Given the description of an element on the screen output the (x, y) to click on. 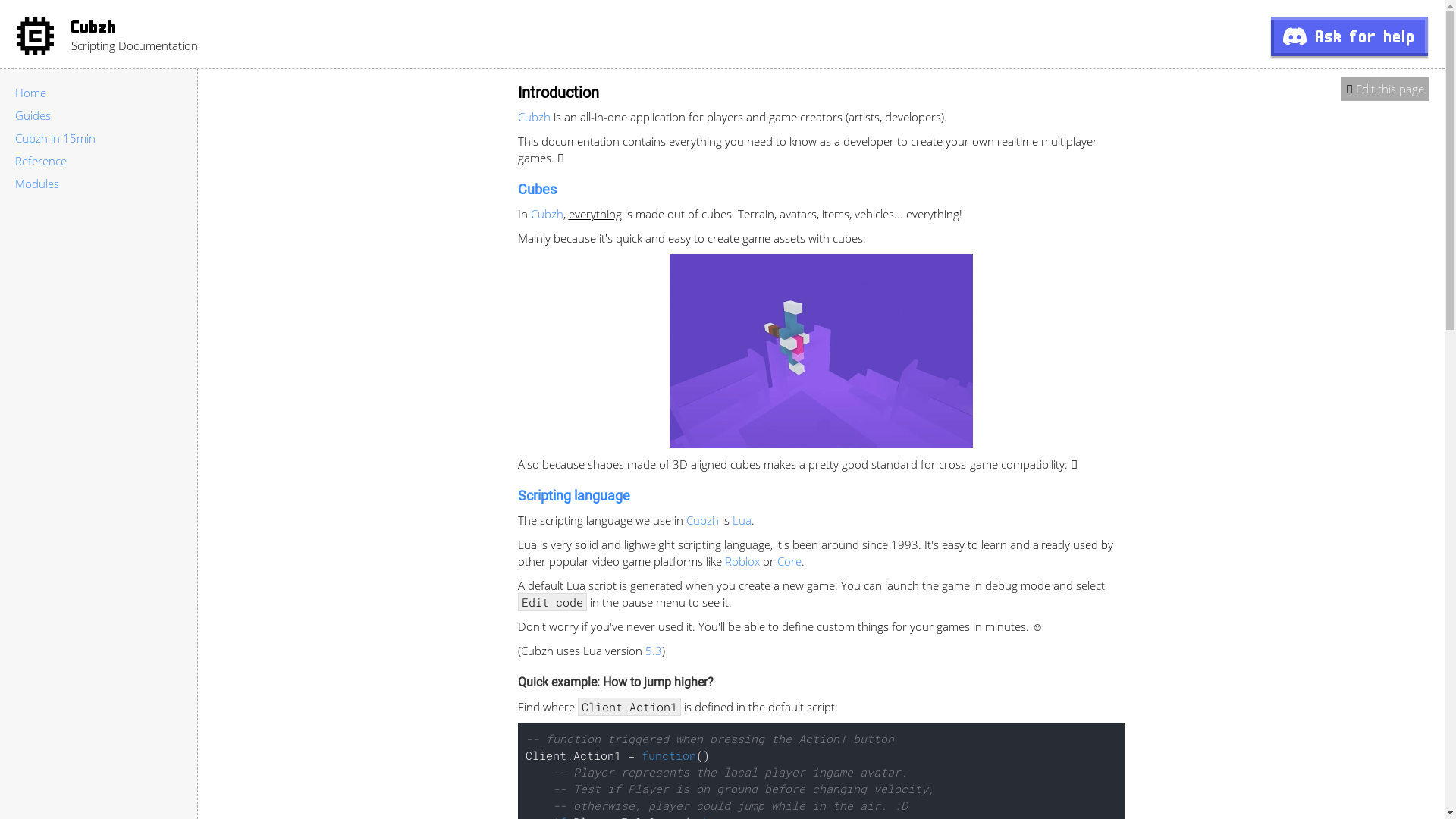
5.3 Element type: text (652, 650)
Reference Element type: text (40, 160)
Cubzh Element type: text (701, 519)
Ask for help Element type: text (1348, 36)
Cubzh in 15min Element type: text (55, 137)
Scripting language Element type: text (573, 495)
Lua Element type: text (741, 519)
Modules Element type: text (37, 183)
Roblox Element type: text (741, 560)
Cubzh Element type: text (546, 213)
Edit this page Element type: text (1389, 88)
Core Element type: text (788, 560)
Cubzh Element type: text (93, 28)
Guides Element type: text (32, 114)
Home Element type: text (30, 92)
Quick example: How to jump higher? Element type: text (614, 681)
Cubes Element type: text (536, 189)
Cubzh Element type: text (533, 116)
